Given the description of an element on the screen output the (x, y) to click on. 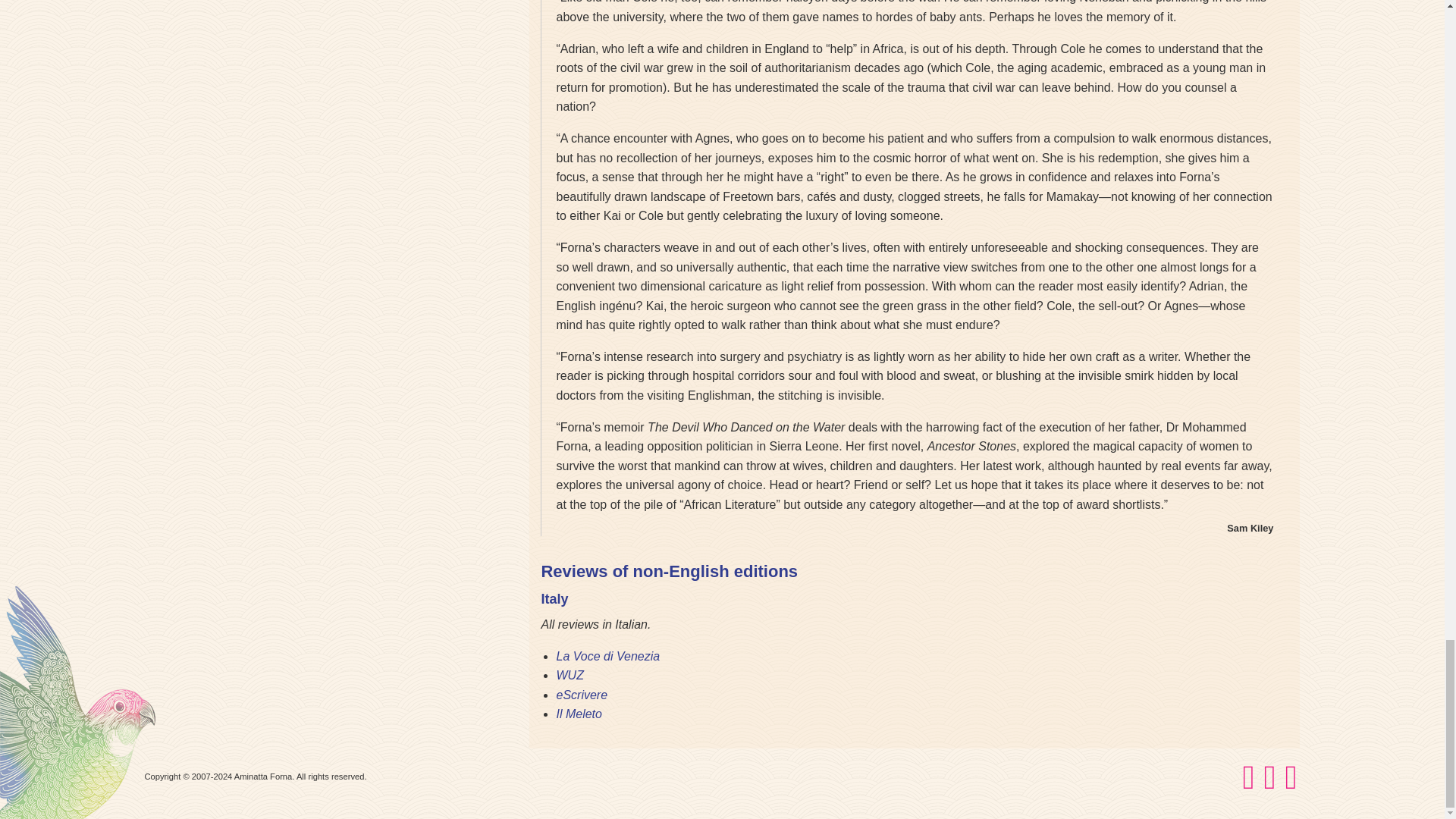
eScrivere (581, 694)
La Voce di Venezia (607, 656)
WUZ (569, 675)
Follow Aminatta on Twitter (1290, 784)
Il Meleto (578, 713)
Follow Aminatta on Facebook (1248, 784)
Follow Aminatta on Instagram (1269, 784)
